Given the description of an element on the screen output the (x, y) to click on. 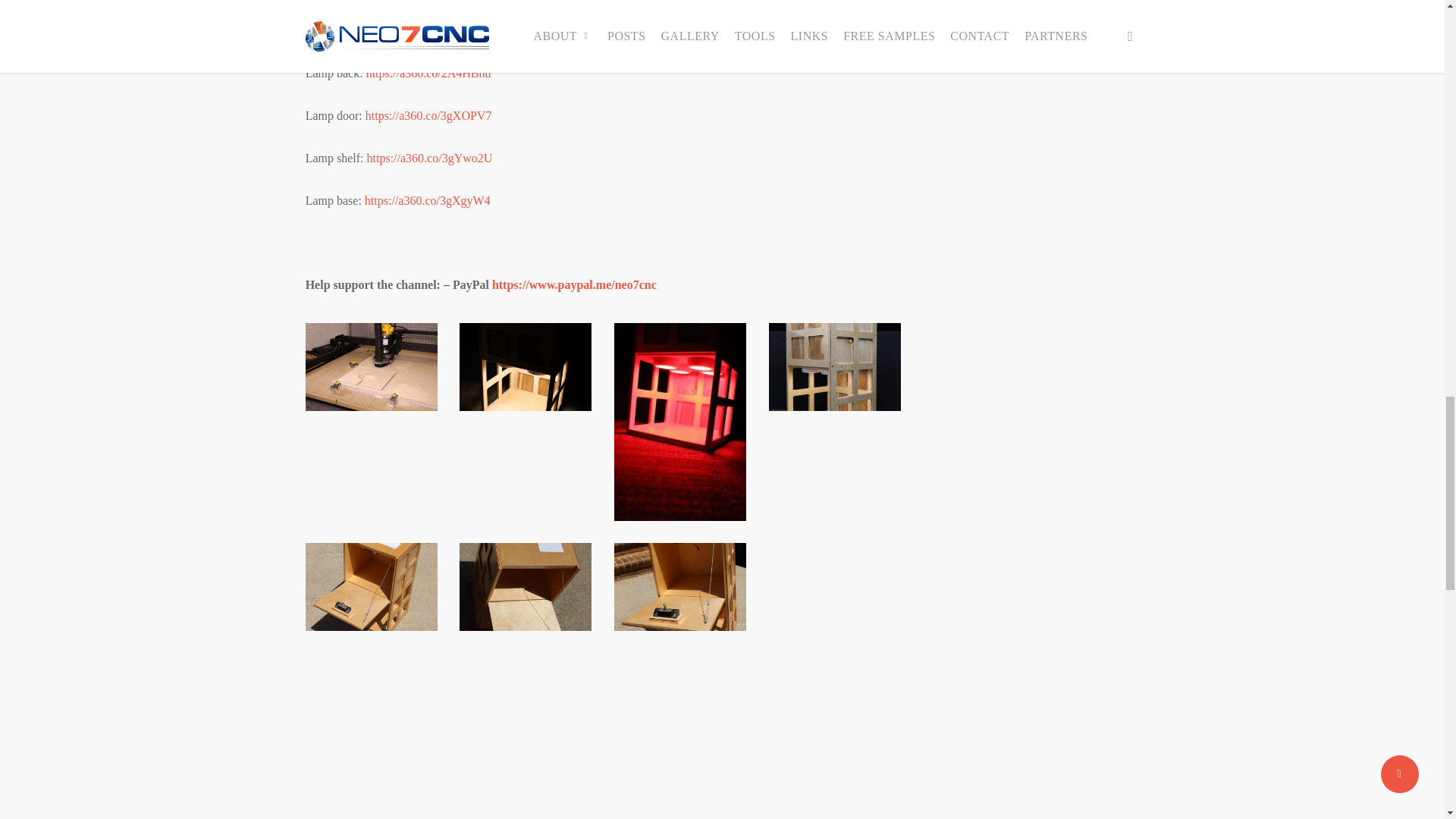
Neo7cnc lamp (527, 369)
Neo7cnc lamp (836, 369)
Neo7cnc lamp (525, 366)
Neo7cnc lamp charger base (373, 369)
Neo7cnc lamp (834, 366)
Neo7cnc - Secret RFID lamp door  (373, 589)
Neo7cnc lamp charger base (371, 366)
Neo7cnc - Secret RFID lamp door (371, 586)
